Given the description of an element on the screen output the (x, y) to click on. 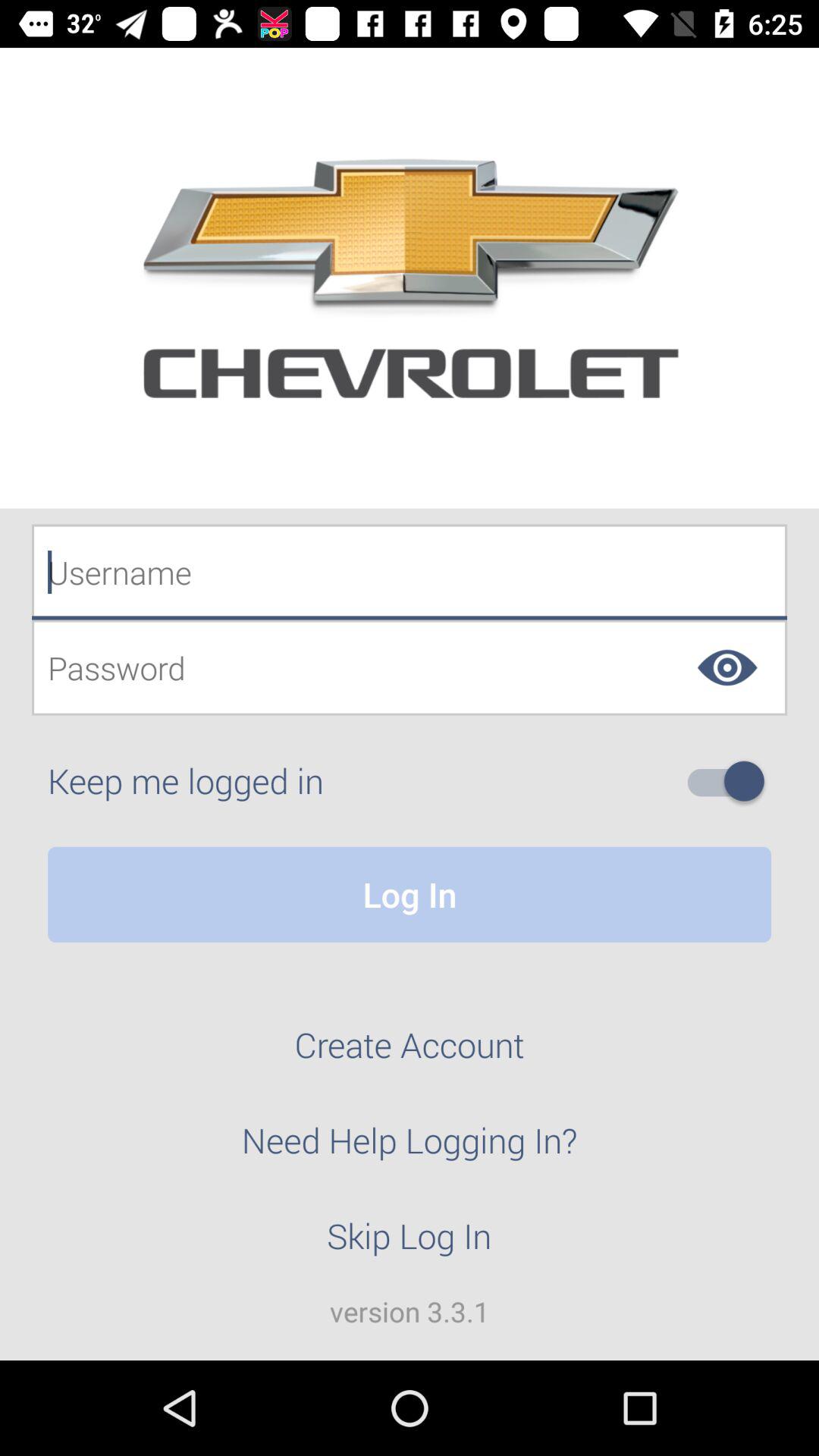
logged in on off option (731, 781)
